Given the description of an element on the screen output the (x, y) to click on. 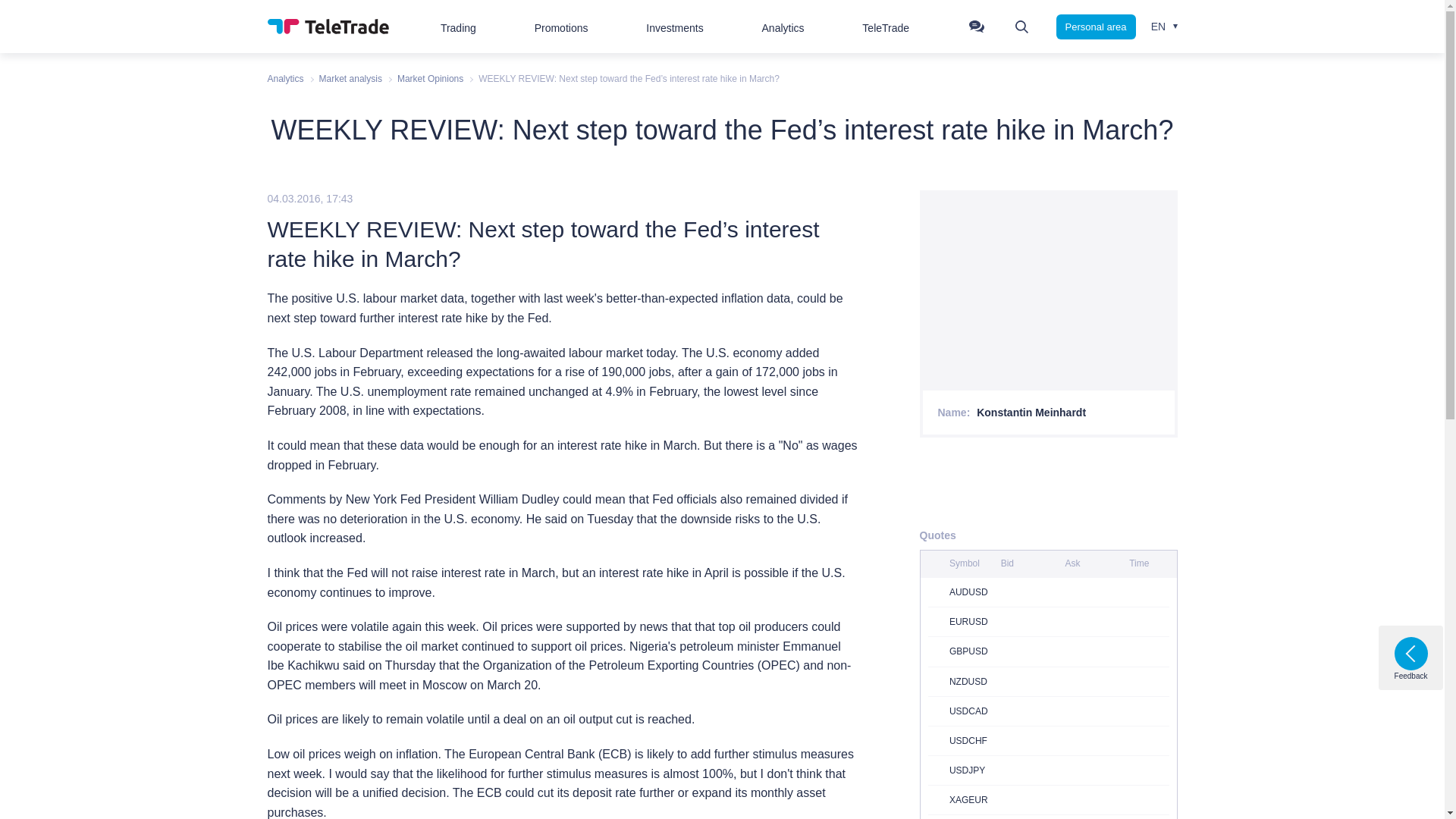
Analytics (284, 79)
Market Opinions (430, 79)
Market analysis (349, 79)
